Given the description of an element on the screen output the (x, y) to click on. 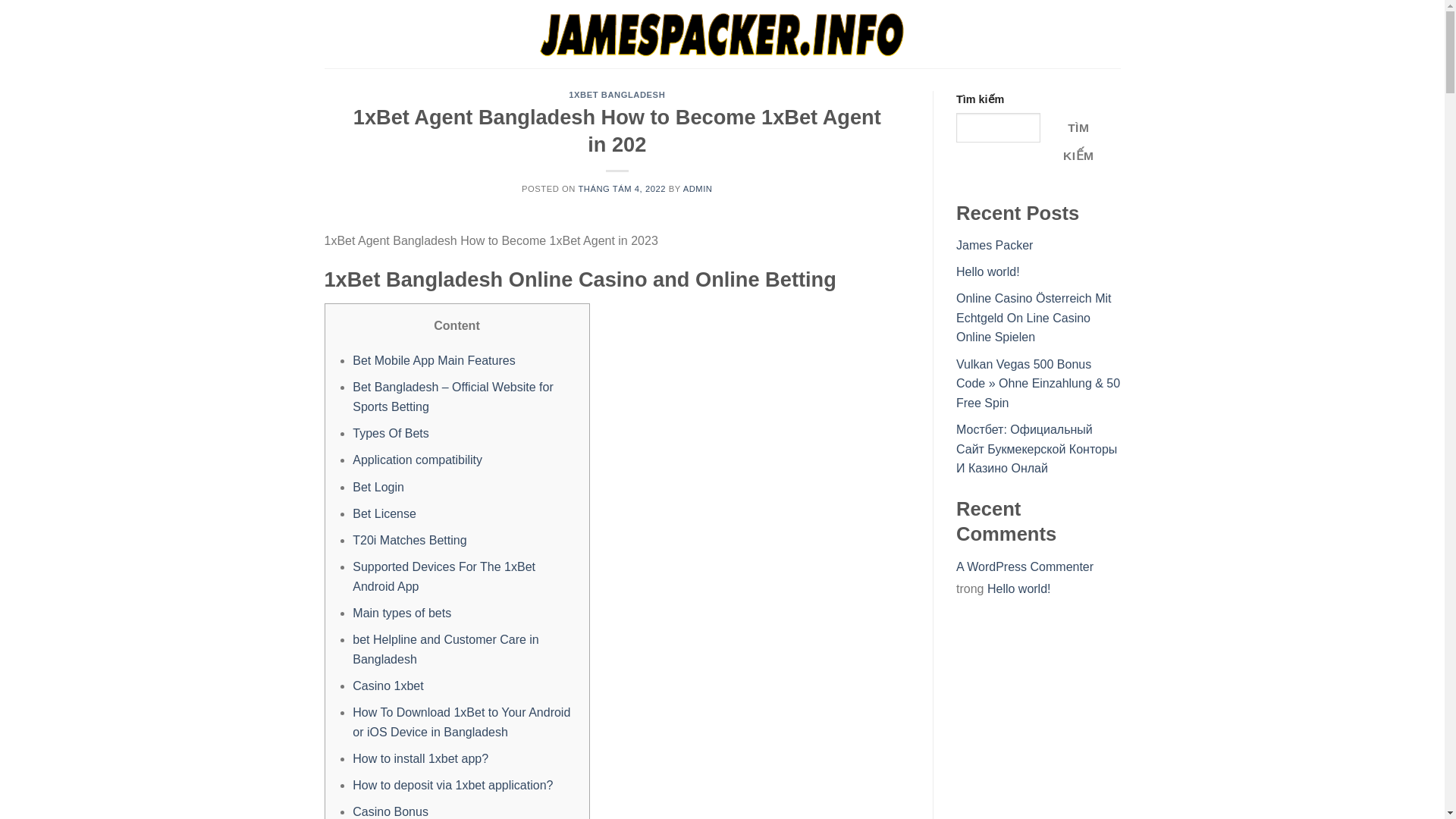
ADMIN (697, 188)
Types Of Bets (390, 432)
Application compatibility (416, 459)
bet Helpline and Customer Care in Bangladesh (445, 649)
Bet License (384, 513)
jamespacker - jamespacker (721, 33)
Main types of bets (401, 612)
1XBET BANGLADESH (617, 94)
Casino 1xbet (387, 685)
Casino Bonus (390, 811)
Bet Mobile App Main Features (433, 359)
Bet Login (378, 486)
How to install 1xbet app? (419, 758)
T20i Matches Betting (408, 540)
Supported Devices For The 1xBet Android App (443, 576)
